Given the description of an element on the screen output the (x, y) to click on. 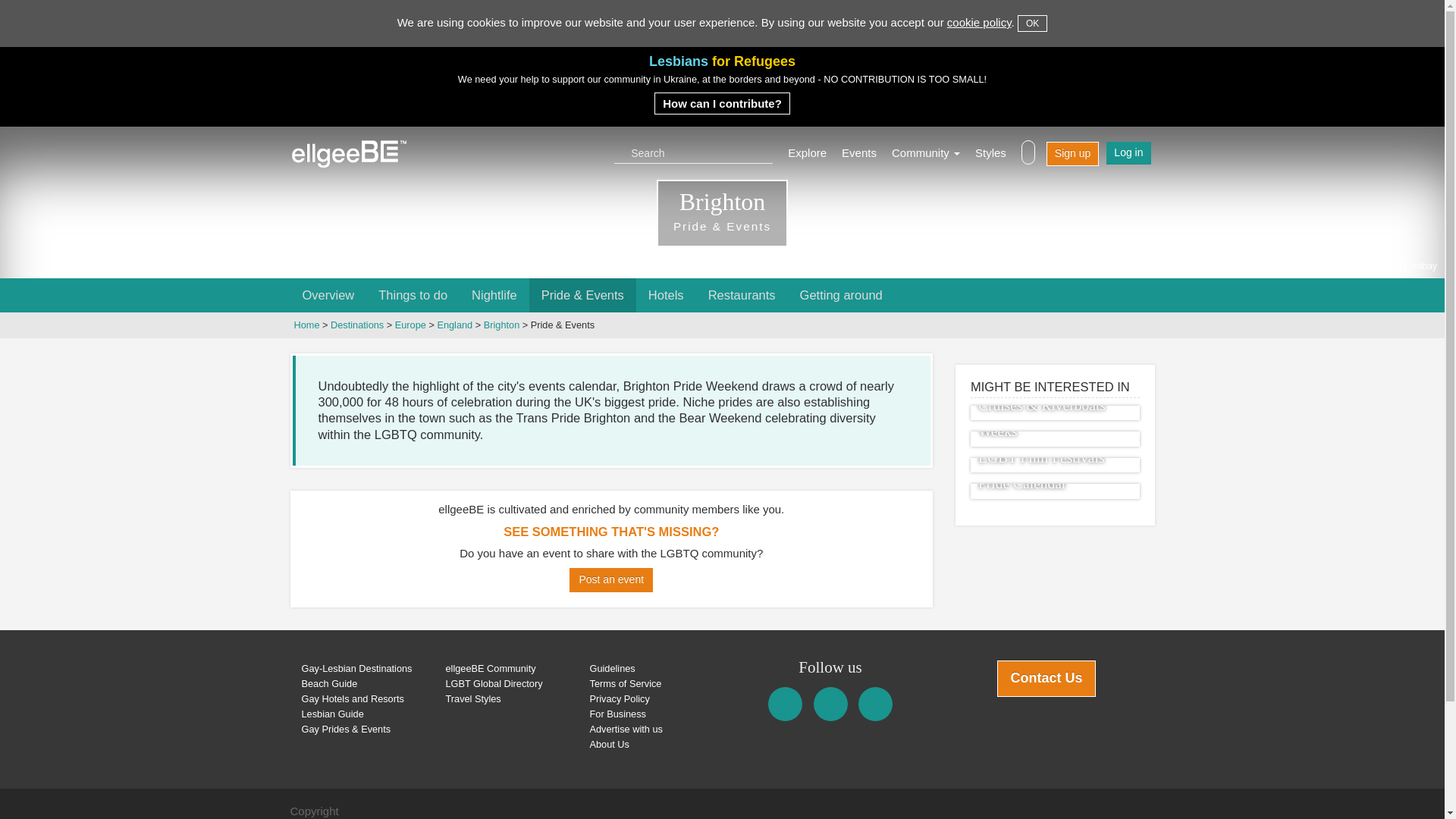
Search (697, 151)
OK (1031, 23)
Pixabay (1421, 266)
How can I contribute? (721, 103)
cookie policy (979, 21)
